Given the description of an element on the screen output the (x, y) to click on. 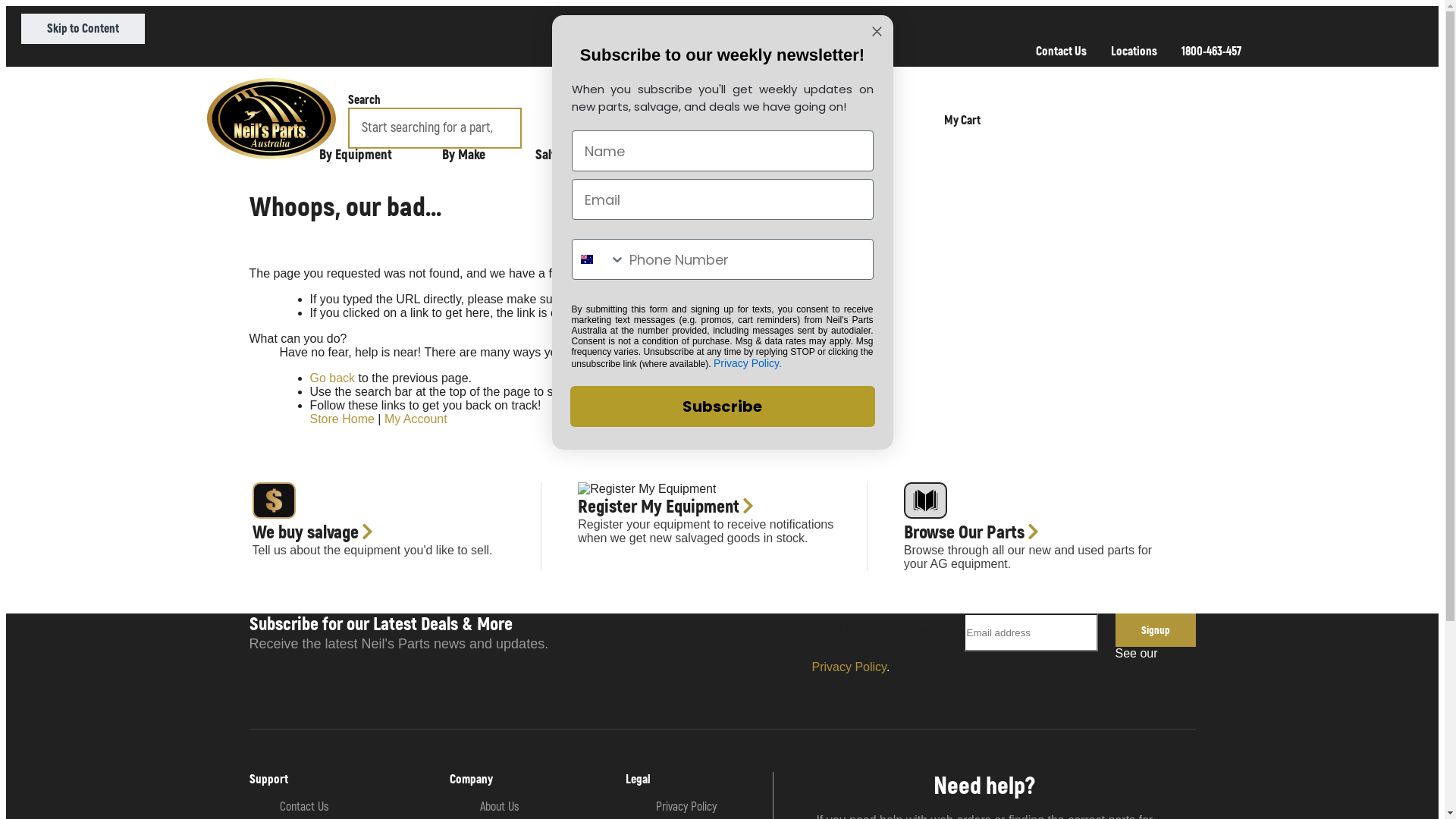
Subscribe Element type: text (722, 405)
Sign In/Register Element type: text (861, 119)
Go back Element type: text (331, 377)
By Make Element type: text (467, 154)
Store Home Element type: text (341, 418)
Salvage Element type: text (560, 154)
Skip to Content Element type: text (82, 28)
Locations Element type: text (1133, 51)
Close dialog 1 Element type: text (876, 31)
Australia Element type: hover (586, 259)
Signup Element type: text (1154, 629)
About Us Element type: text (499, 806)
Submit Element type: text (25, 9)
Contact Us Element type: text (1060, 51)
Contact Us Element type: text (303, 806)
By Equipment Element type: text (359, 154)
My Cart Element type: text (1089, 120)
1800-463-457 Element type: text (1211, 51)
Neil's Australia Element type: hover (270, 118)
Privacy Policy Element type: text (848, 666)
Privacy Policy Element type: text (685, 806)
My Account Element type: text (415, 418)
Search Element type: text (584, 110)
Privacy Policy. Element type: text (747, 363)
Whole Equipment Element type: text (677, 154)
Neil's Australia Element type: hover (270, 120)
